Given the description of an element on the screen output the (x, y) to click on. 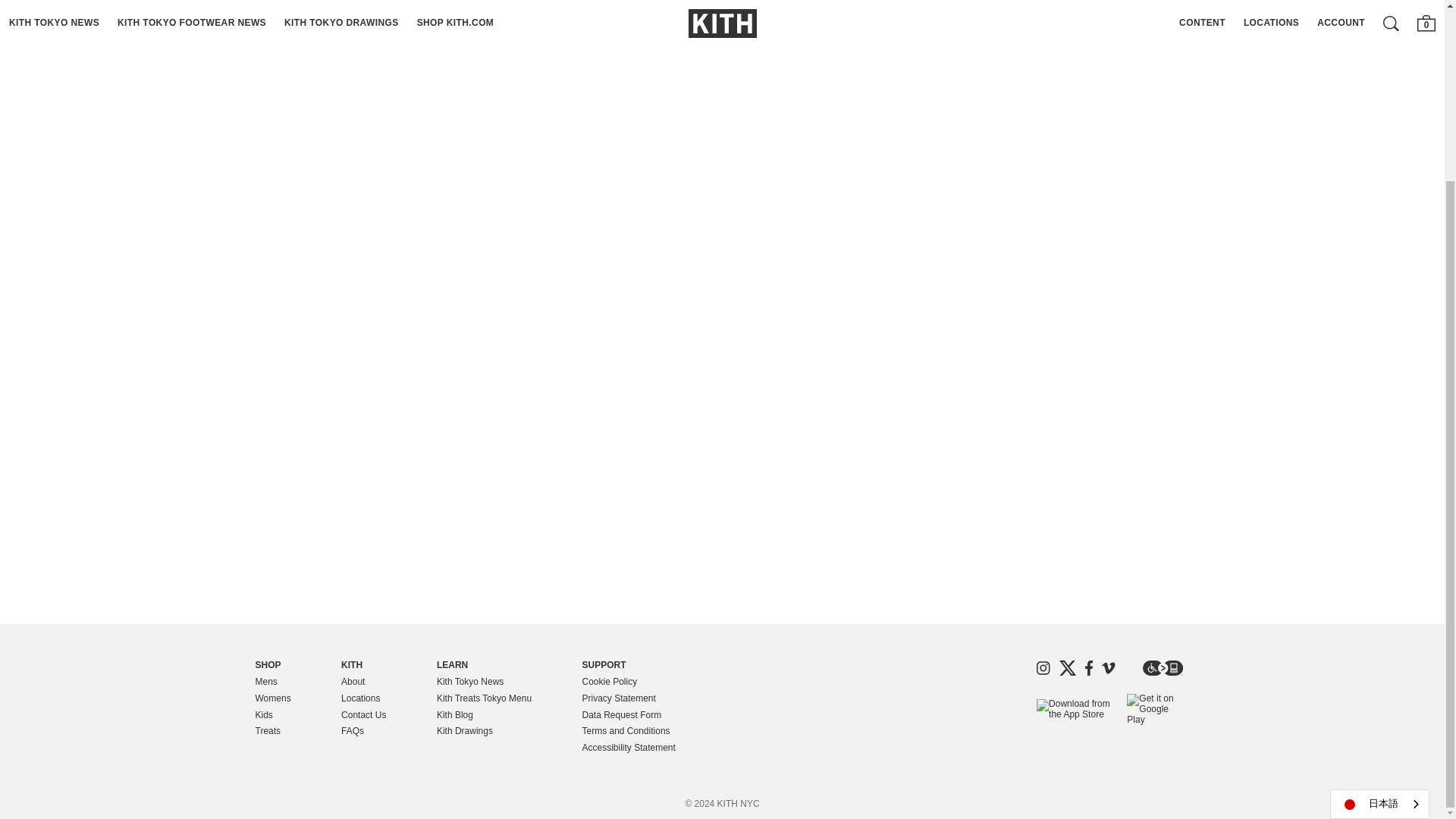
X (1067, 667)
Instagram (1042, 667)
essential Accessibility Icon (1161, 667)
Vimeo (1108, 667)
X (1067, 667)
